Given the description of an element on the screen output the (x, y) to click on. 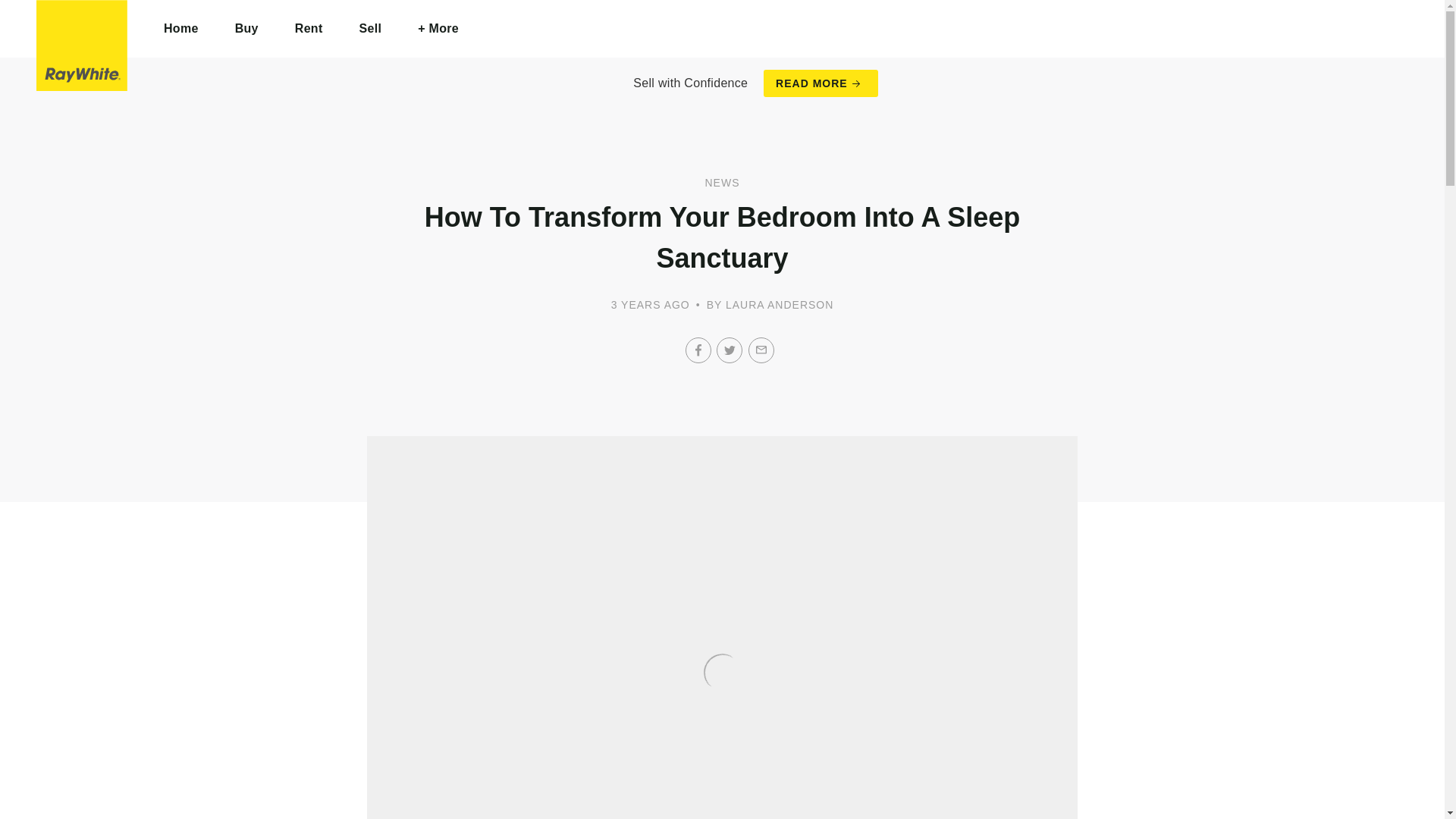
READ MORE (819, 83)
Twitter (729, 350)
Facebook (698, 350)
Email (761, 350)
Home (180, 28)
Ray White Picton (82, 45)
